Given the description of an element on the screen output the (x, y) to click on. 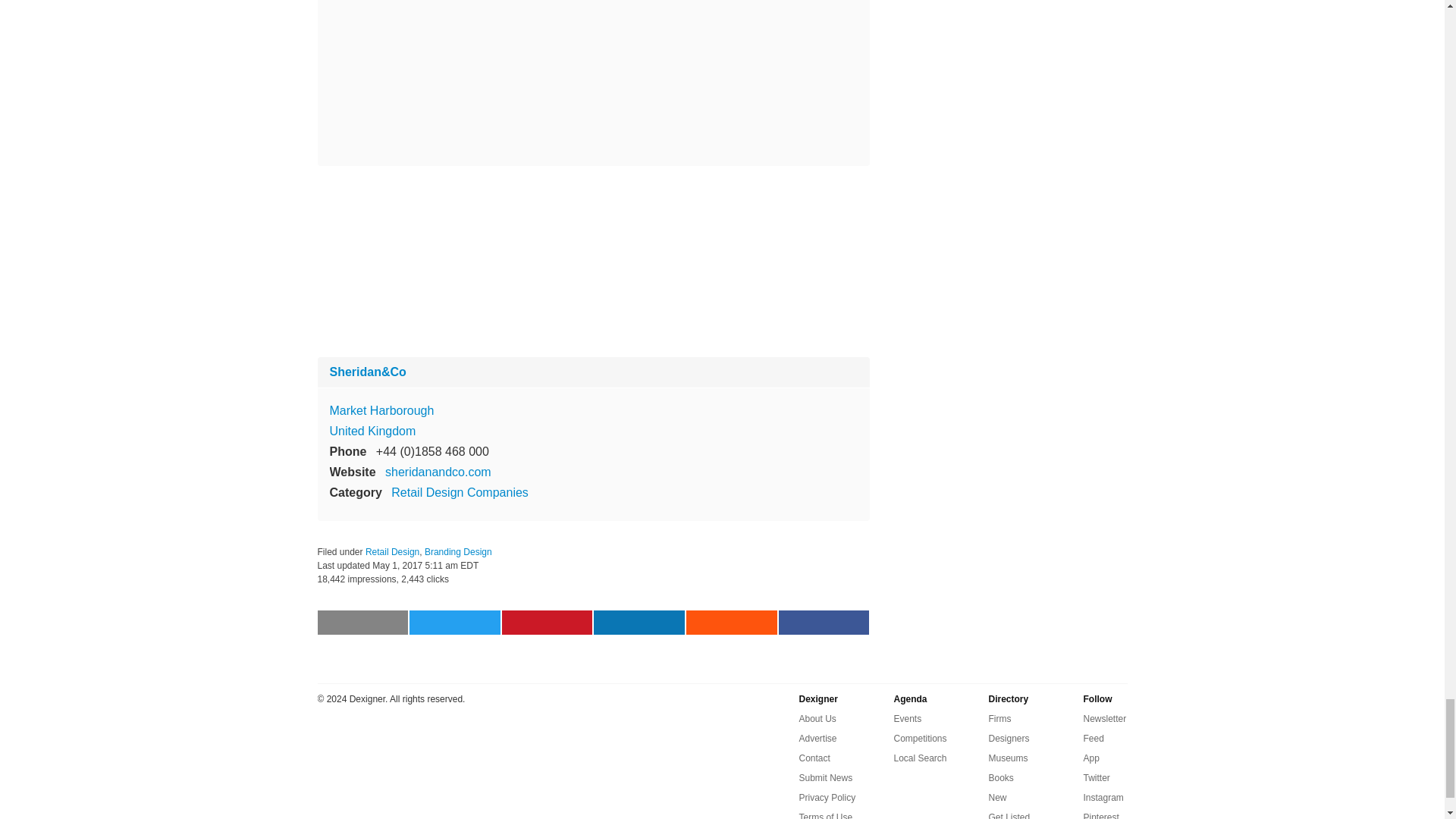
Designers (1008, 738)
Competitions (919, 738)
Advertise (818, 738)
Get Listed (1009, 813)
Local Search (919, 758)
Retail Design (392, 552)
Contact (814, 758)
Feed (1093, 738)
Retail Design Companies (459, 492)
About Us (817, 719)
